Given the description of an element on the screen output the (x, y) to click on. 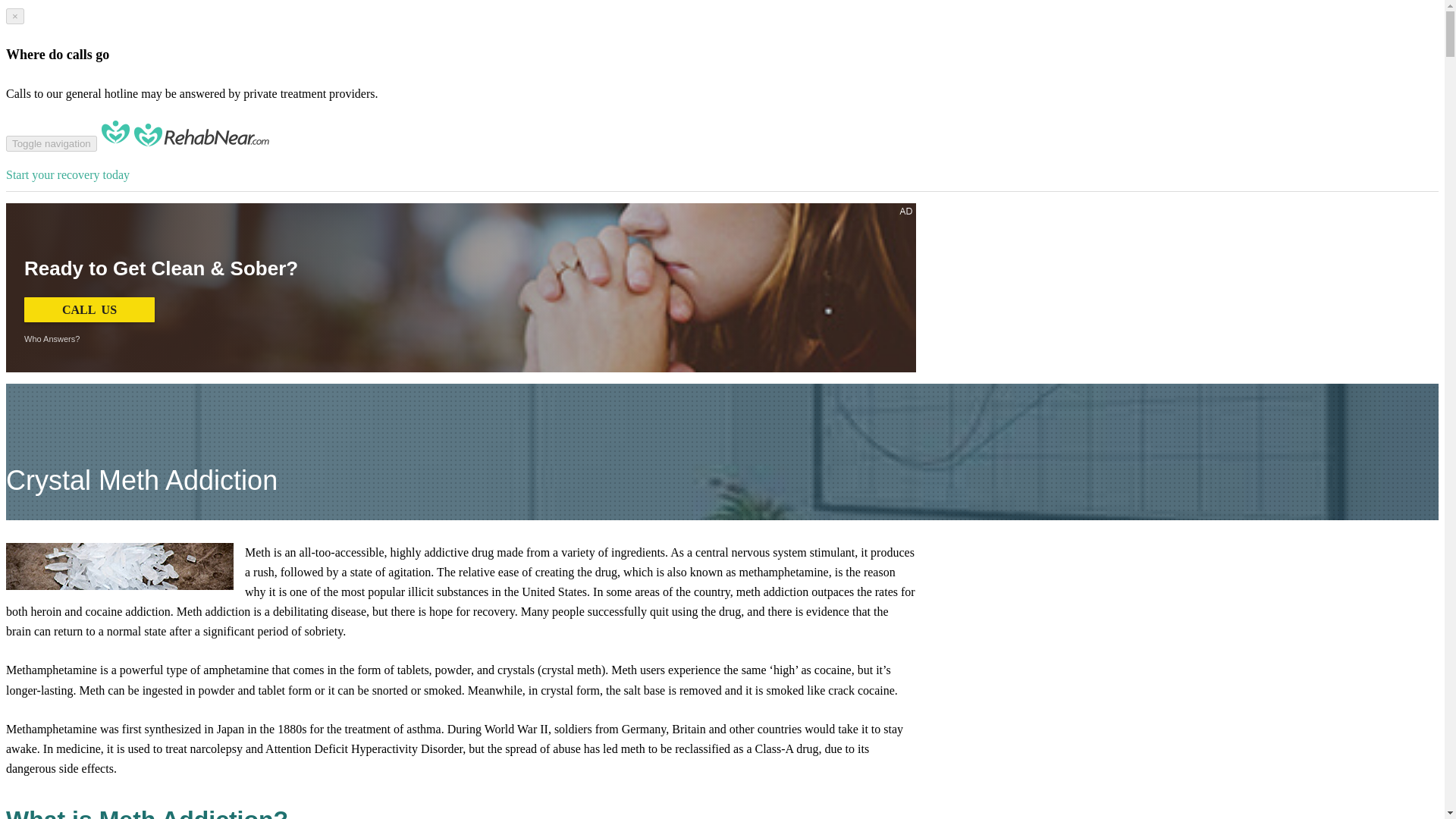
ARE YOU ADDICTED? (426, 246)
BLOG (891, 246)
Toggle navigation (51, 143)
CALL  US (89, 309)
QUESTIONS (825, 246)
Who Answers? (52, 338)
WHAT CAN BE TREATED? (578, 246)
HOW TO CHOOSE? (721, 246)
Start your recovery today (460, 189)
